Given the description of an element on the screen output the (x, y) to click on. 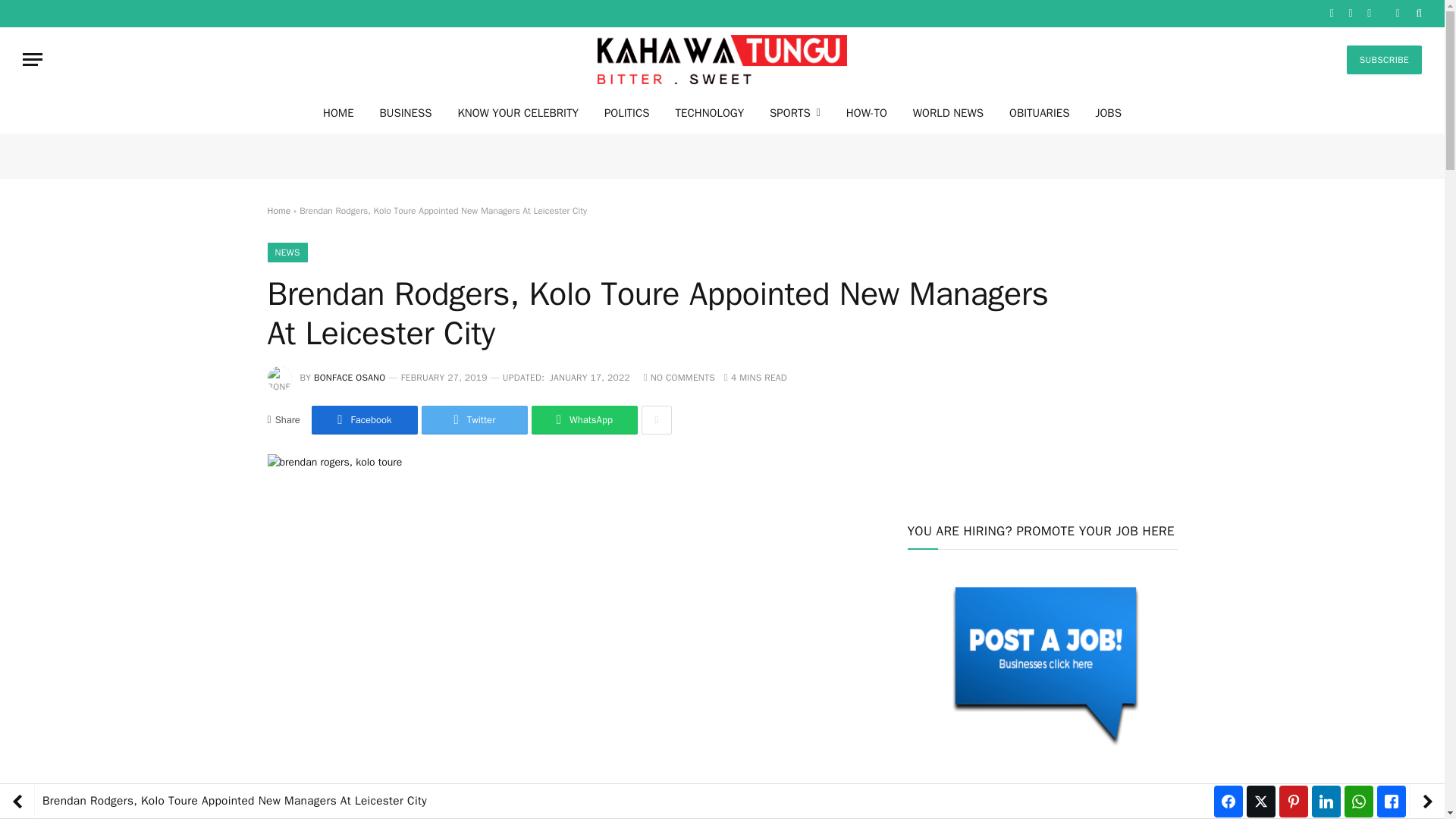
Twitter (474, 419)
HOW-TO (865, 112)
HOME (338, 112)
Switch to Dark Design - easier on eyes. (1397, 13)
Share on Facebook (364, 419)
BUSINESS (405, 112)
Posts by Bonface Osano (349, 377)
Home (277, 210)
WORLD NEWS (947, 112)
KahawaTungu (721, 59)
